Given the description of an element on the screen output the (x, y) to click on. 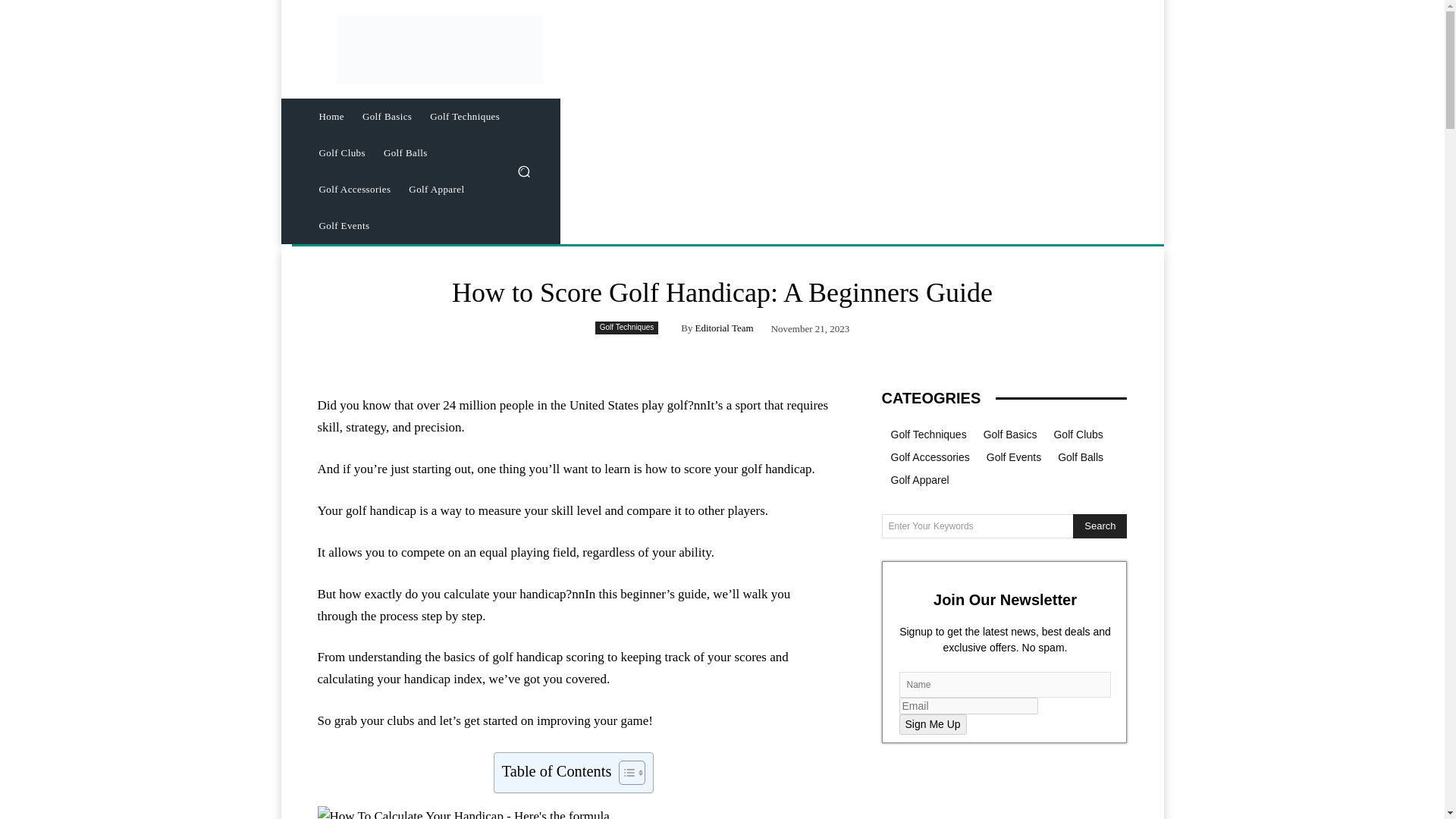
Golf Events (343, 226)
Home (330, 116)
Golf Basics (386, 116)
Golf Balls (405, 153)
Golf Techniques (464, 116)
Editorial Team (723, 327)
Golf Apparel (435, 189)
Golf Clubs (341, 153)
Golf Accessories (353, 189)
Golf Techniques (627, 327)
